Given the description of an element on the screen output the (x, y) to click on. 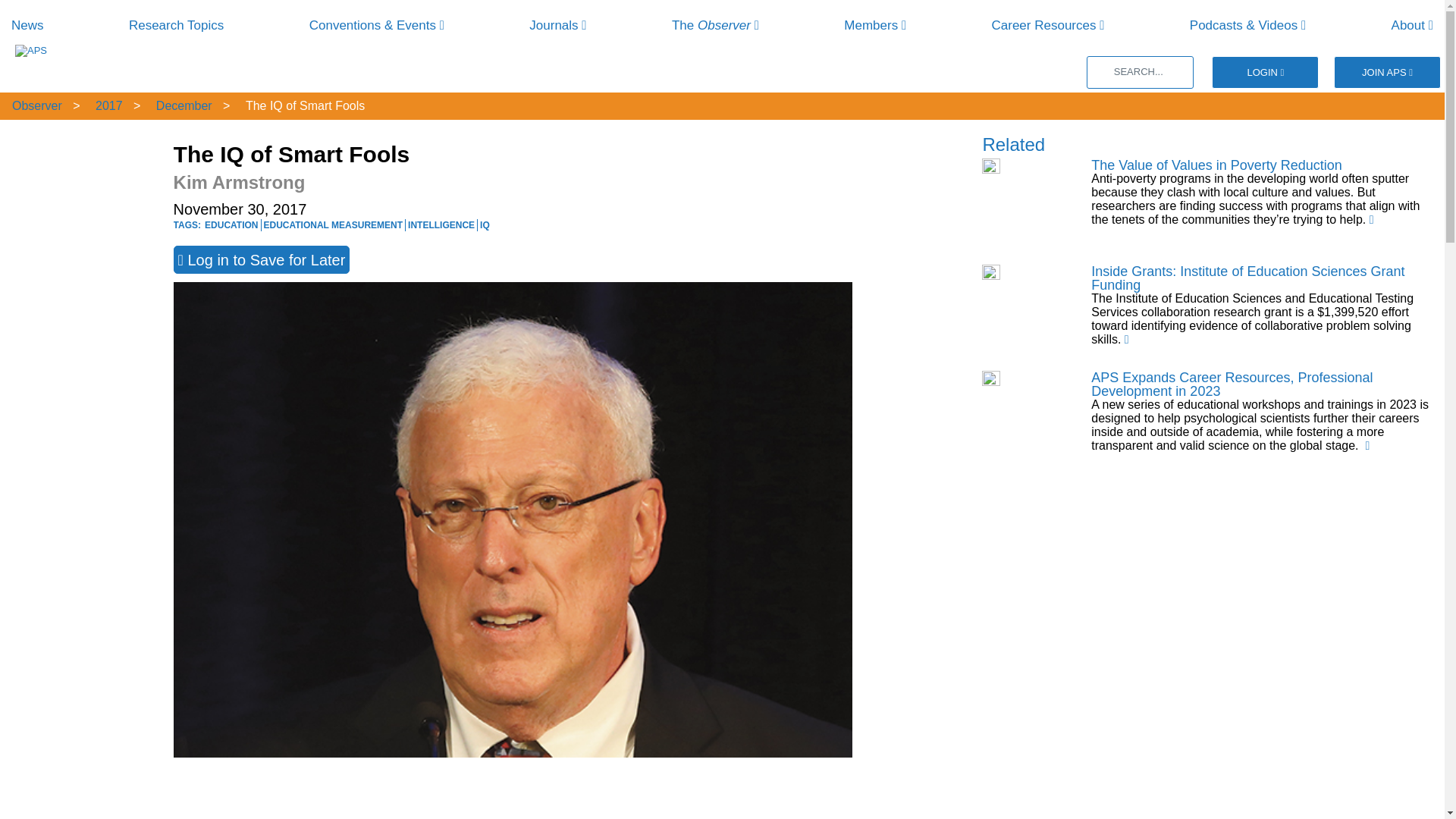
Career Resources (1048, 25)
News (27, 25)
Members (874, 25)
The Observer  (714, 25)
Related (1013, 144)
Journals (557, 25)
About (1411, 25)
Go to Observer. (35, 105)
Research Topics (176, 25)
Go to the December Issue archives. (182, 105)
